Given the description of an element on the screen output the (x, y) to click on. 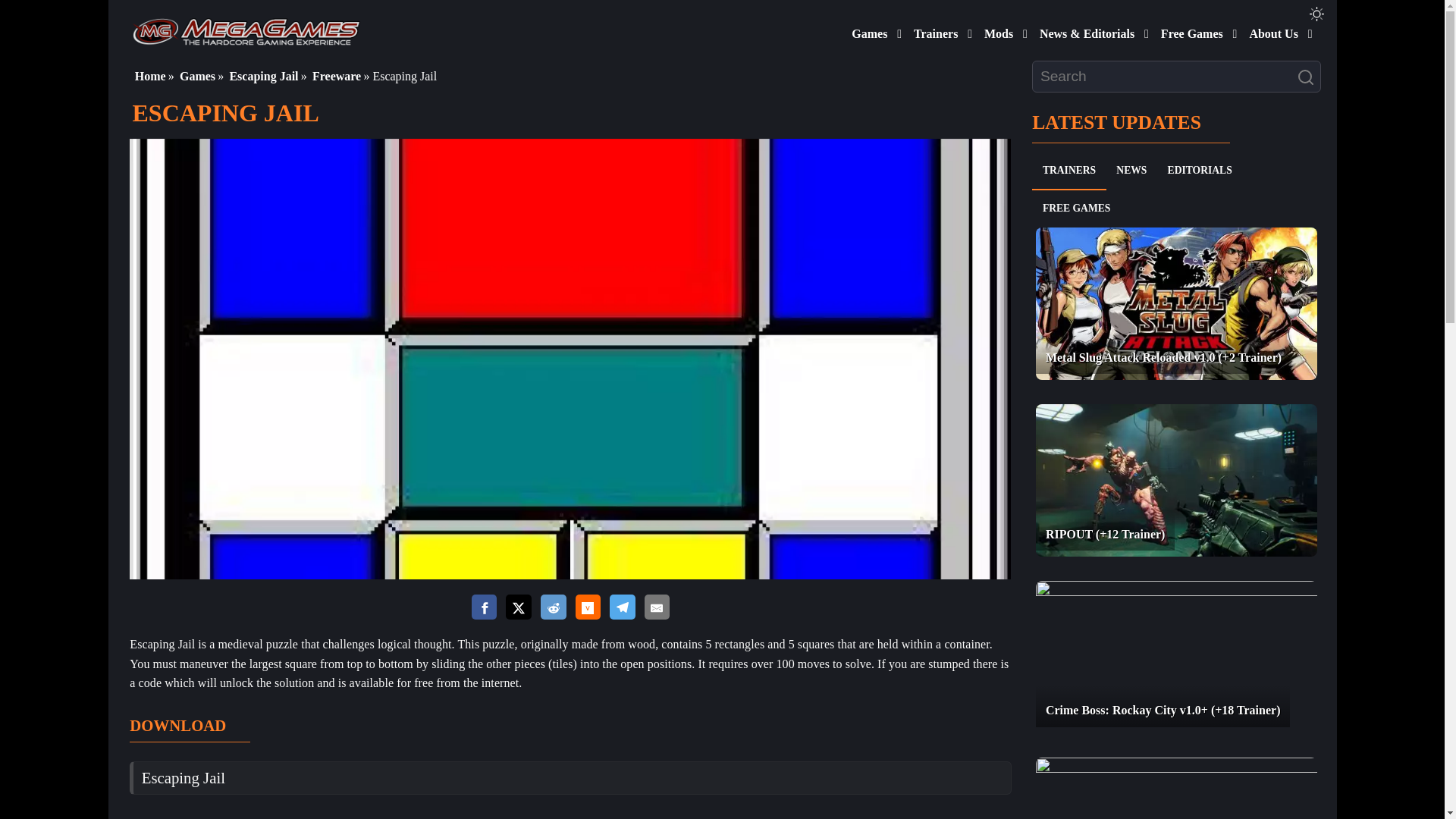
Twitter Share (518, 608)
Facebook Share (484, 607)
Hackernews (587, 606)
email (657, 606)
Download Escaping Jail now (183, 777)
Telegram Share (621, 607)
X (518, 606)
Email Share (656, 607)
Telegram (622, 606)
megagames.com (245, 30)
X (518, 607)
Hacker News Share (587, 607)
Reddit Share (553, 607)
Games (866, 31)
